Given the description of an element on the screen output the (x, y) to click on. 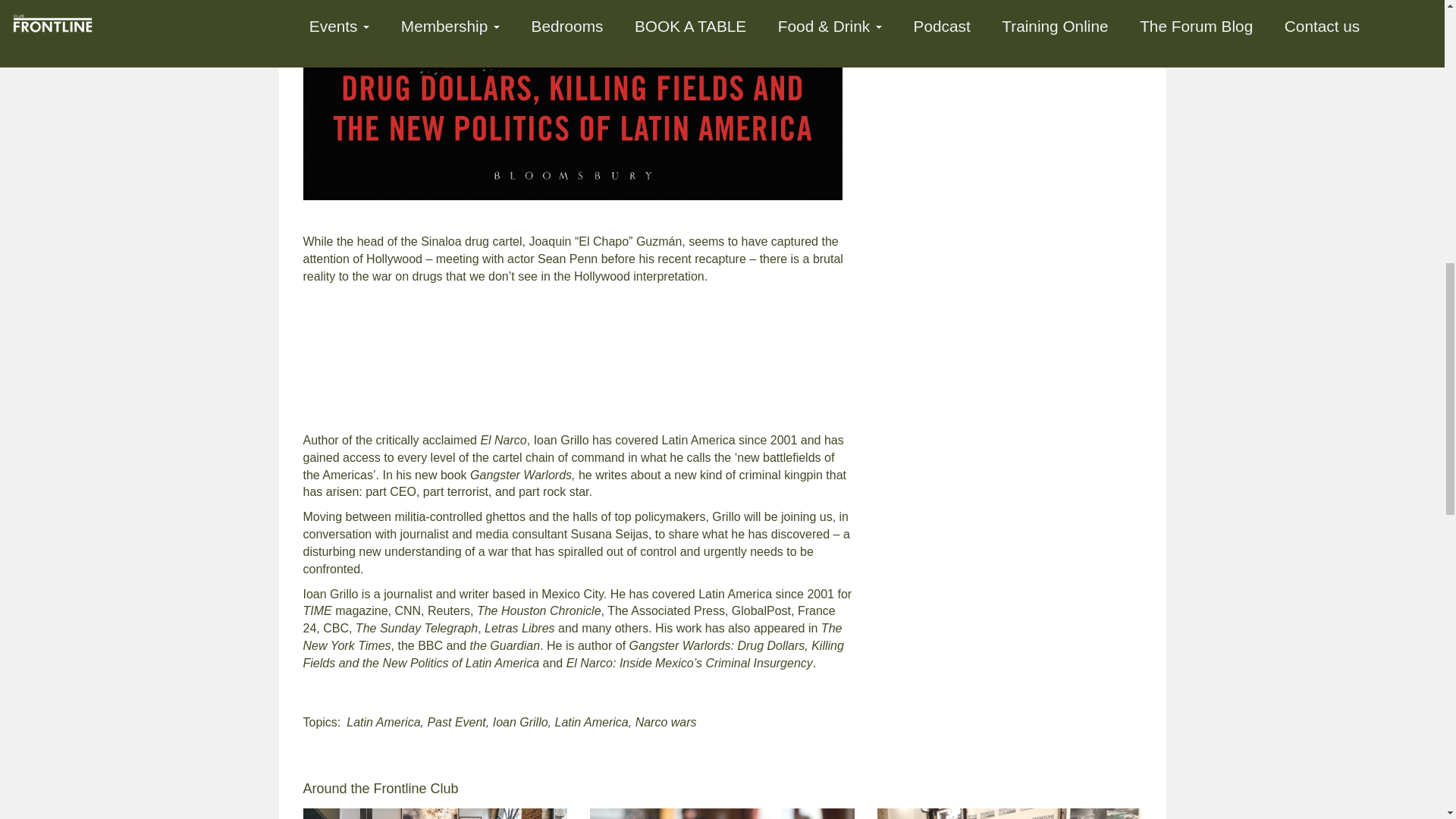
Latin America (383, 721)
Latin America (591, 721)
Ioan Grillo (520, 721)
Past Event (455, 721)
Narco wars (665, 721)
